Given the description of an element on the screen output the (x, y) to click on. 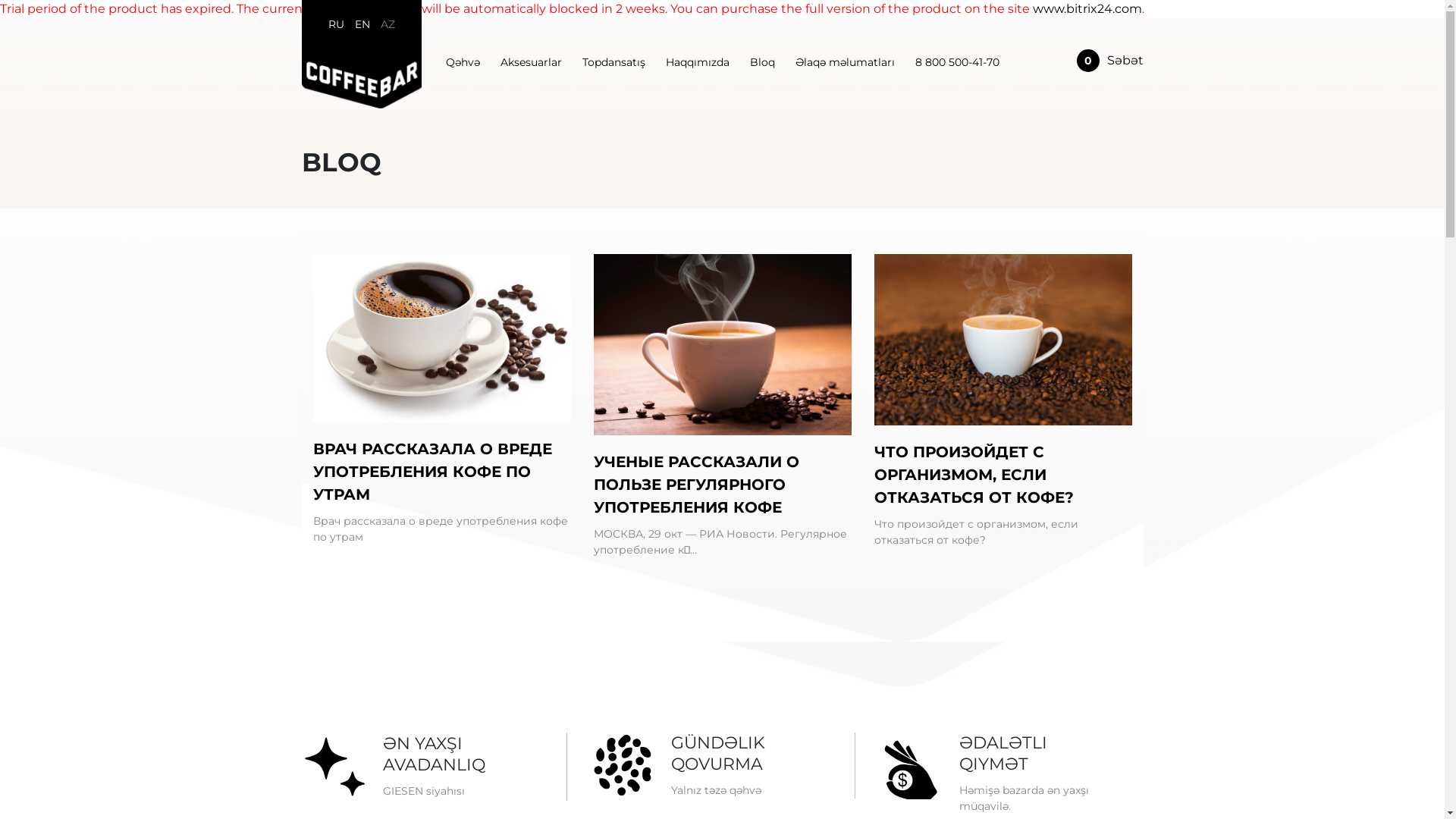
RU EN AZ Element type: text (361, 26)
AZ Element type: text (387, 24)
RU Element type: text (335, 24)
8 800 500-41-70 Element type: text (956, 62)
Aksesuarlar Element type: text (530, 62)
EN Element type: text (362, 24)
www.bitrix24.com Element type: text (1087, 8)
Bloq Element type: text (761, 62)
